Given the description of an element on the screen output the (x, y) to click on. 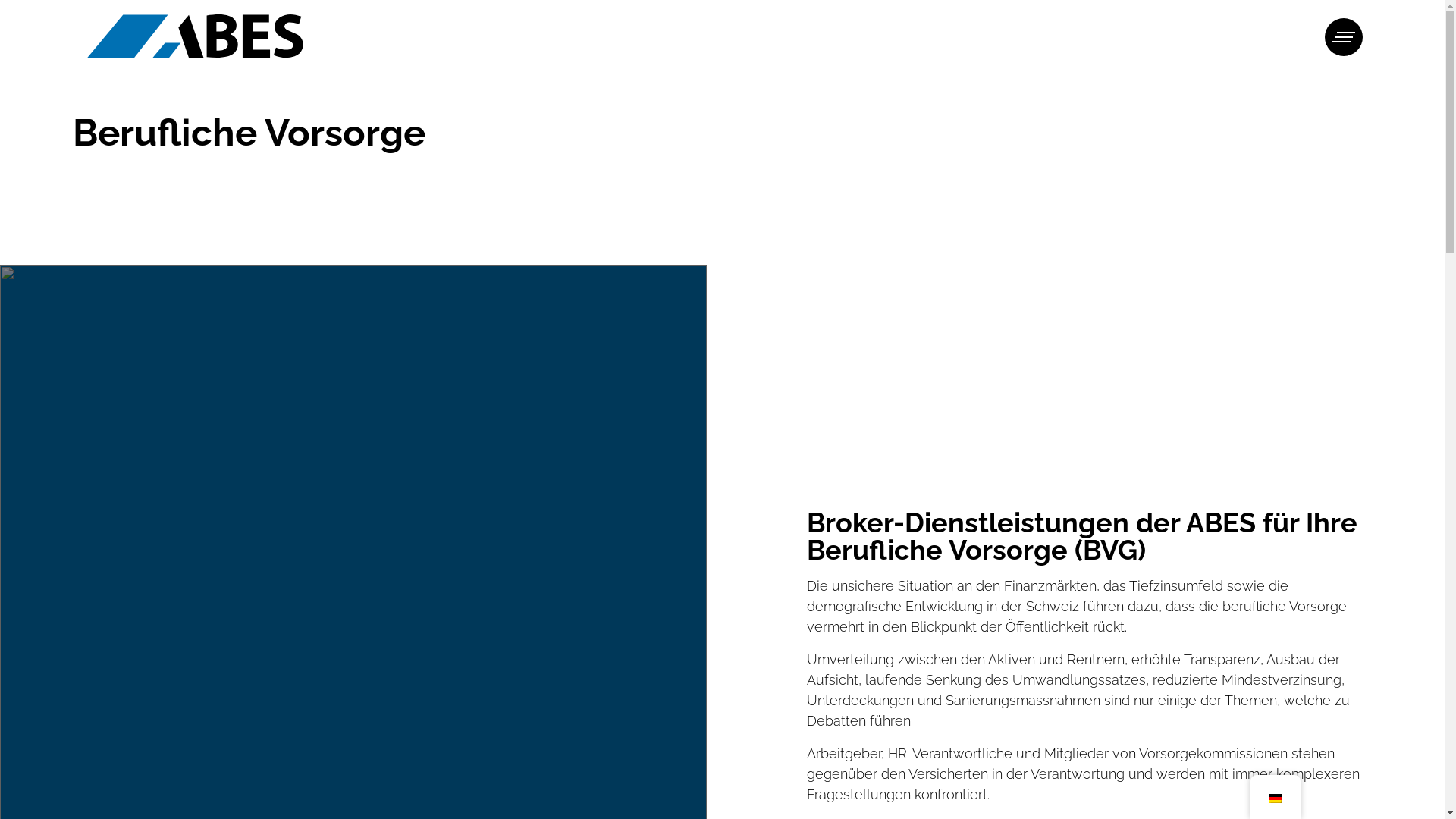
German Element type: hover (1274, 798)
